Given the description of an element on the screen output the (x, y) to click on. 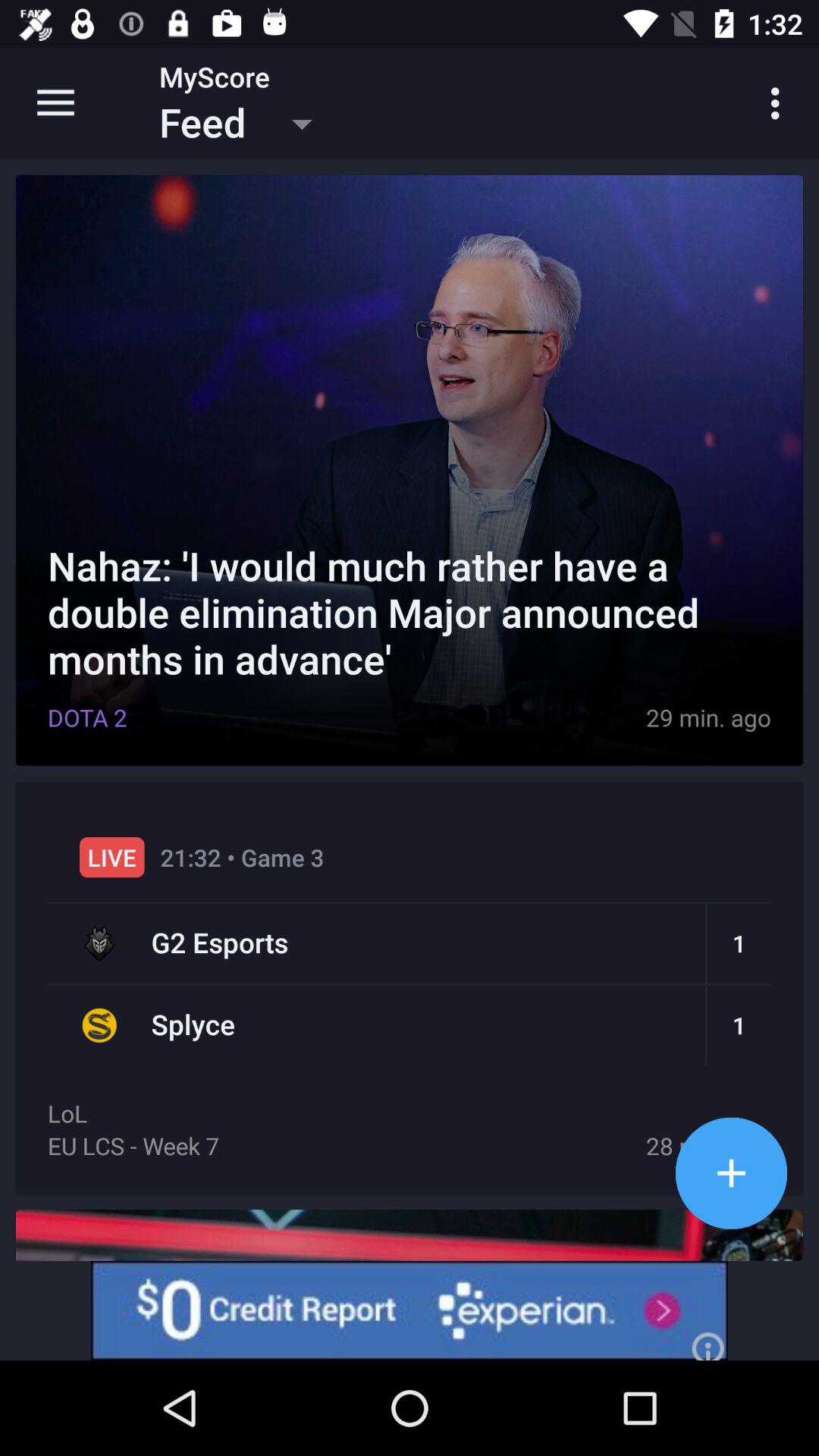
add bar option (731, 1173)
